Given the description of an element on the screen output the (x, y) to click on. 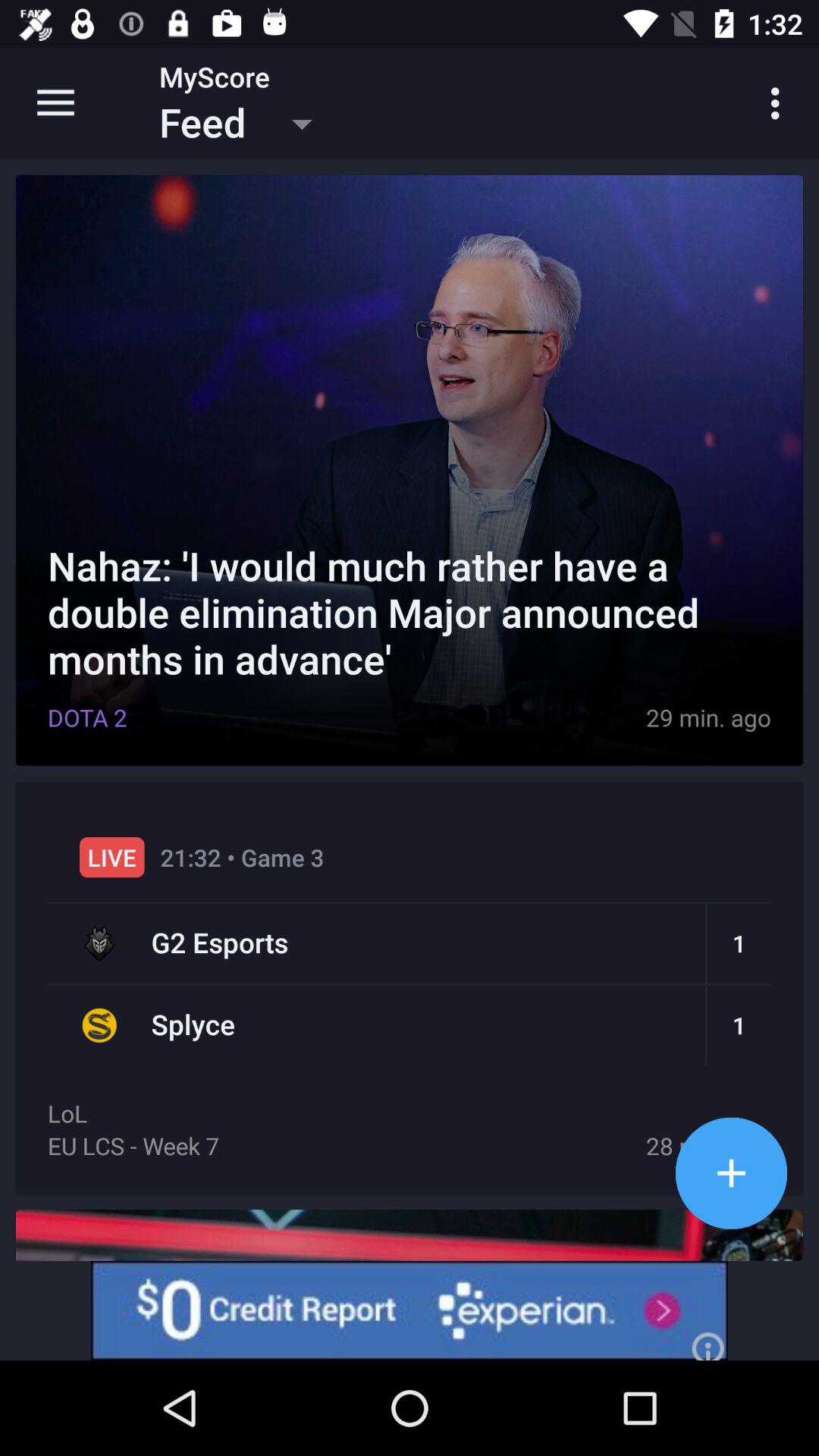
add bar option (731, 1173)
